Given the description of an element on the screen output the (x, y) to click on. 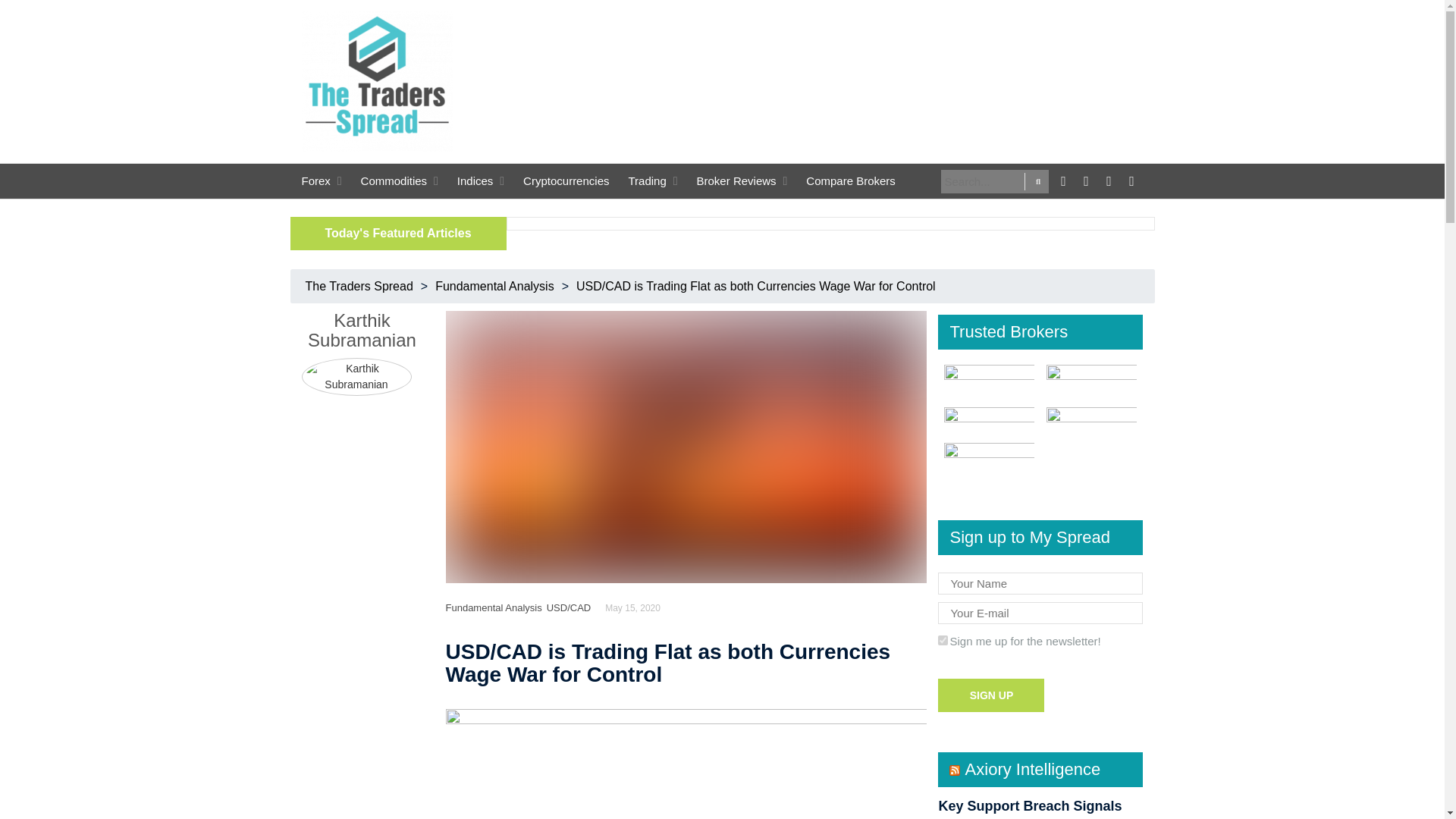
LinkedIn (1108, 178)
Go to the Fundamental Analysis category archives. (493, 286)
Telegram (1131, 178)
Go to The Traders Spread. (358, 286)
Forex (315, 185)
Twitter (1085, 178)
Sign Up (990, 694)
Trading (646, 185)
fxopen-logo (988, 458)
Samtrade-FX-Logo-on-White-Print-CMYK (988, 378)
